Given the description of an element on the screen output the (x, y) to click on. 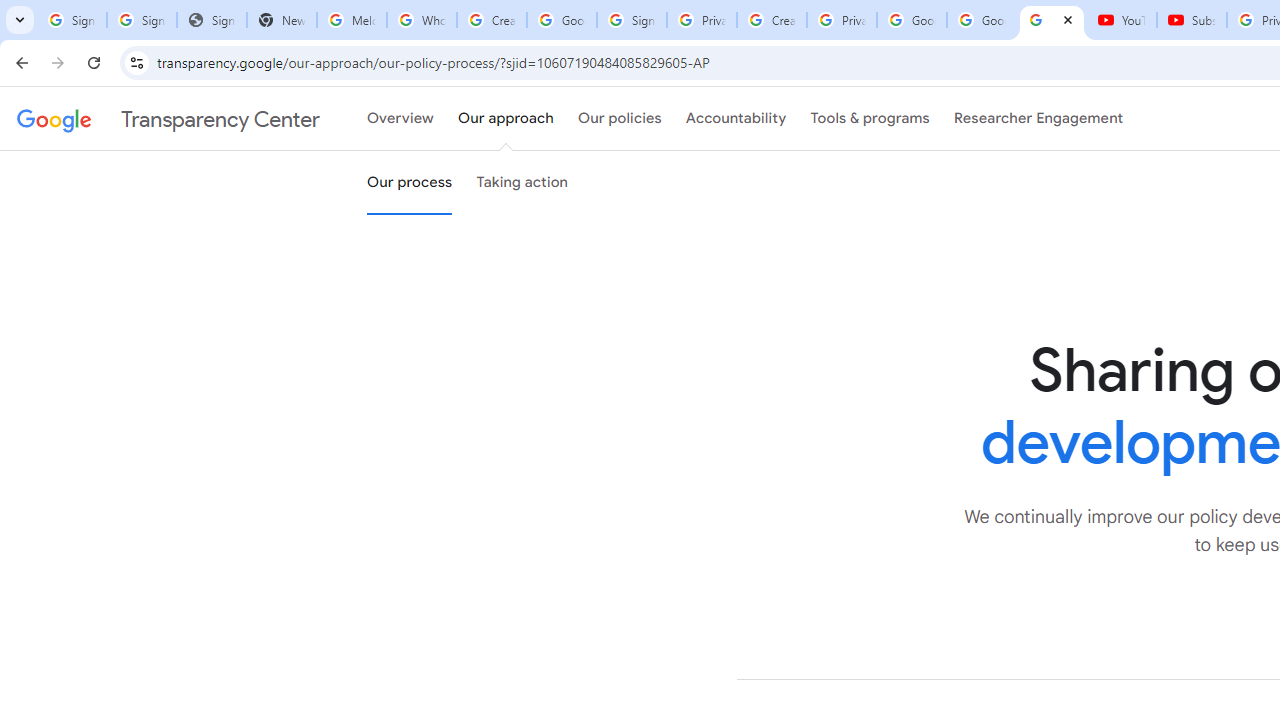
Sign in - Google Accounts (141, 20)
Tools & programs (869, 119)
